Given the description of an element on the screen output the (x, y) to click on. 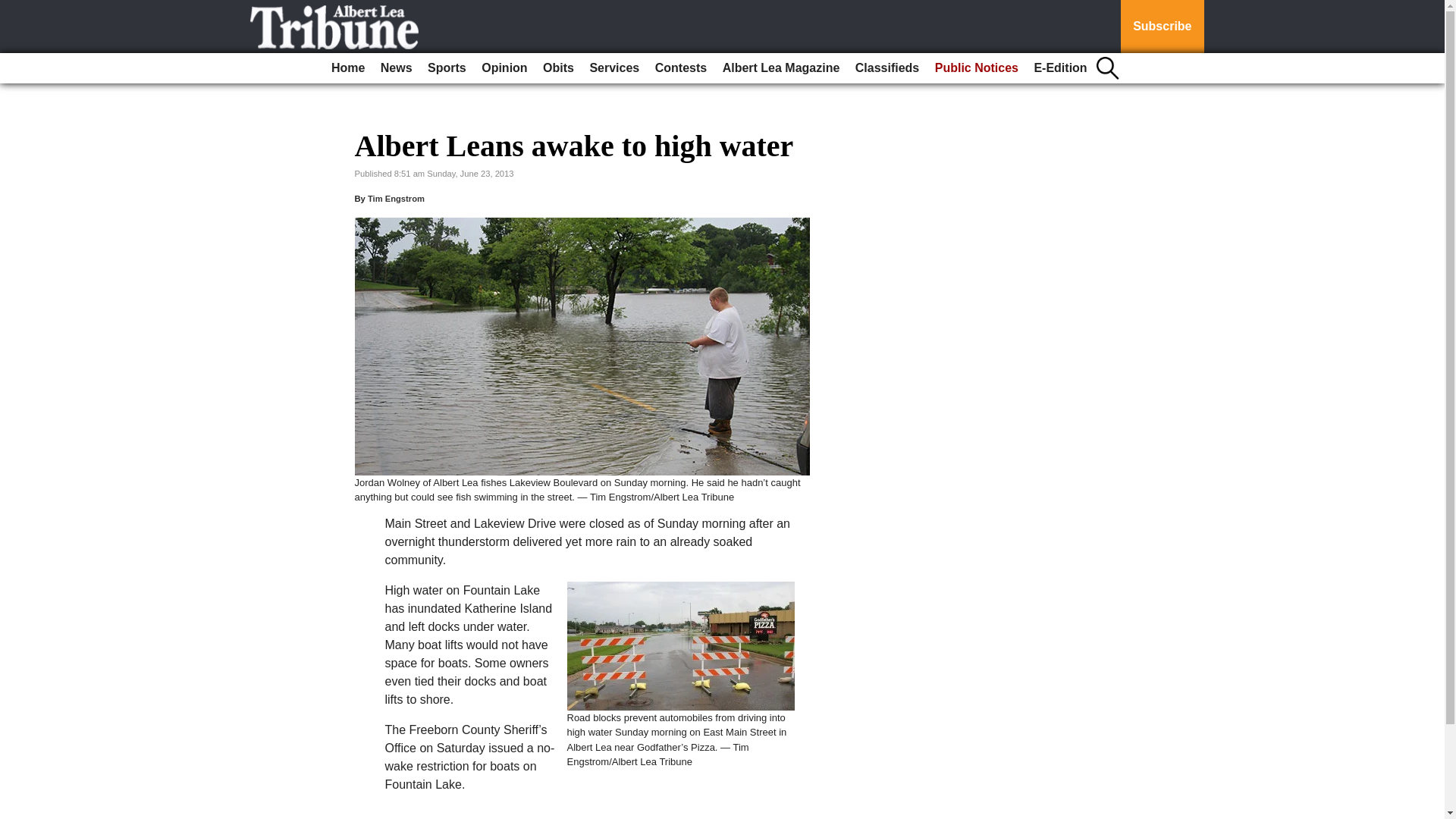
Services (614, 68)
Sports (446, 68)
News (396, 68)
Subscribe (1162, 26)
Opinion (504, 68)
Obits (558, 68)
Home (347, 68)
